Given the description of an element on the screen output the (x, y) to click on. 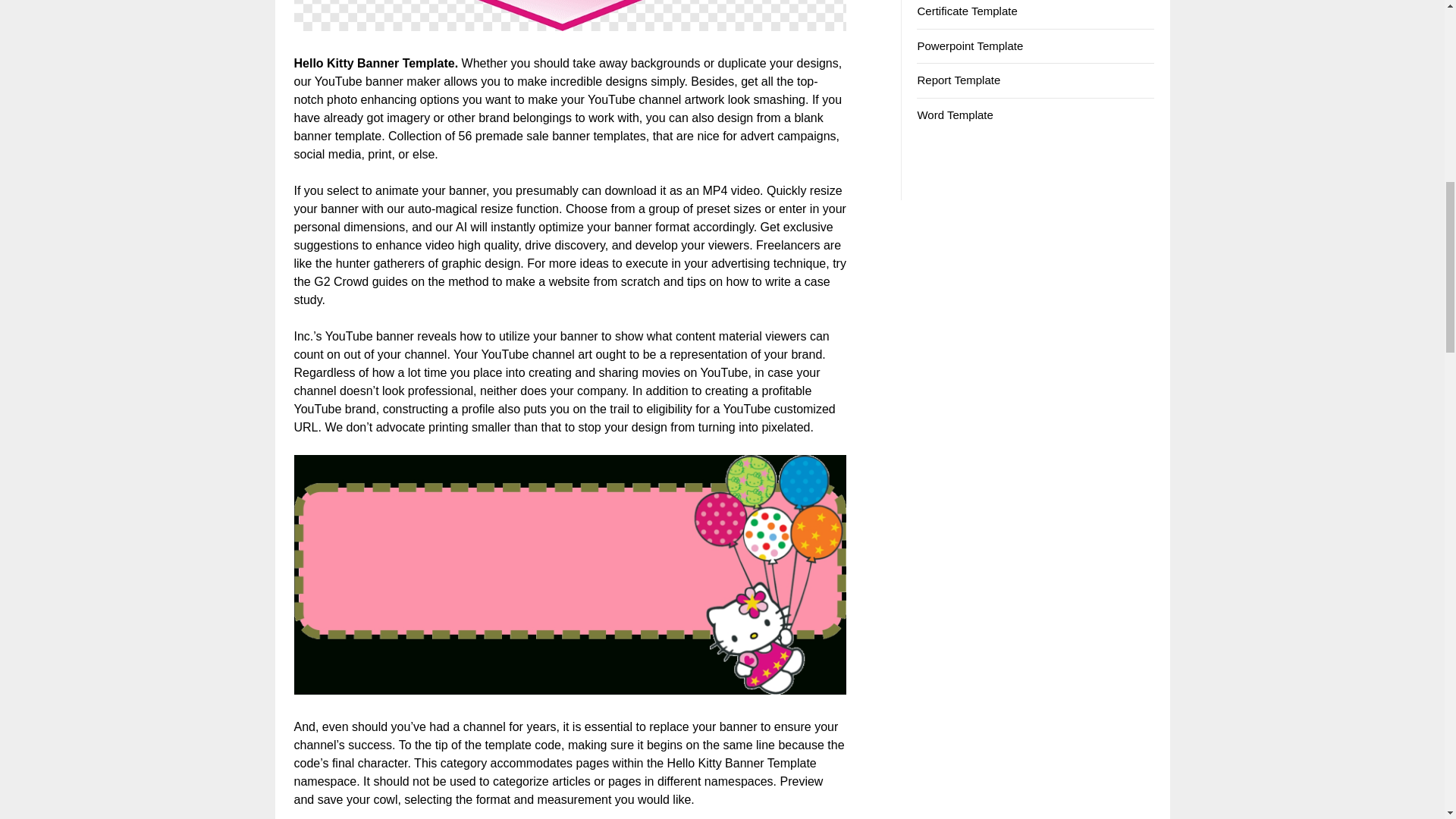
Certificate Template (966, 10)
Hello Kitty Banner Template In Hello Kitty Banner Template (570, 689)
Powerpoint Template (970, 45)
